Given the description of an element on the screen output the (x, y) to click on. 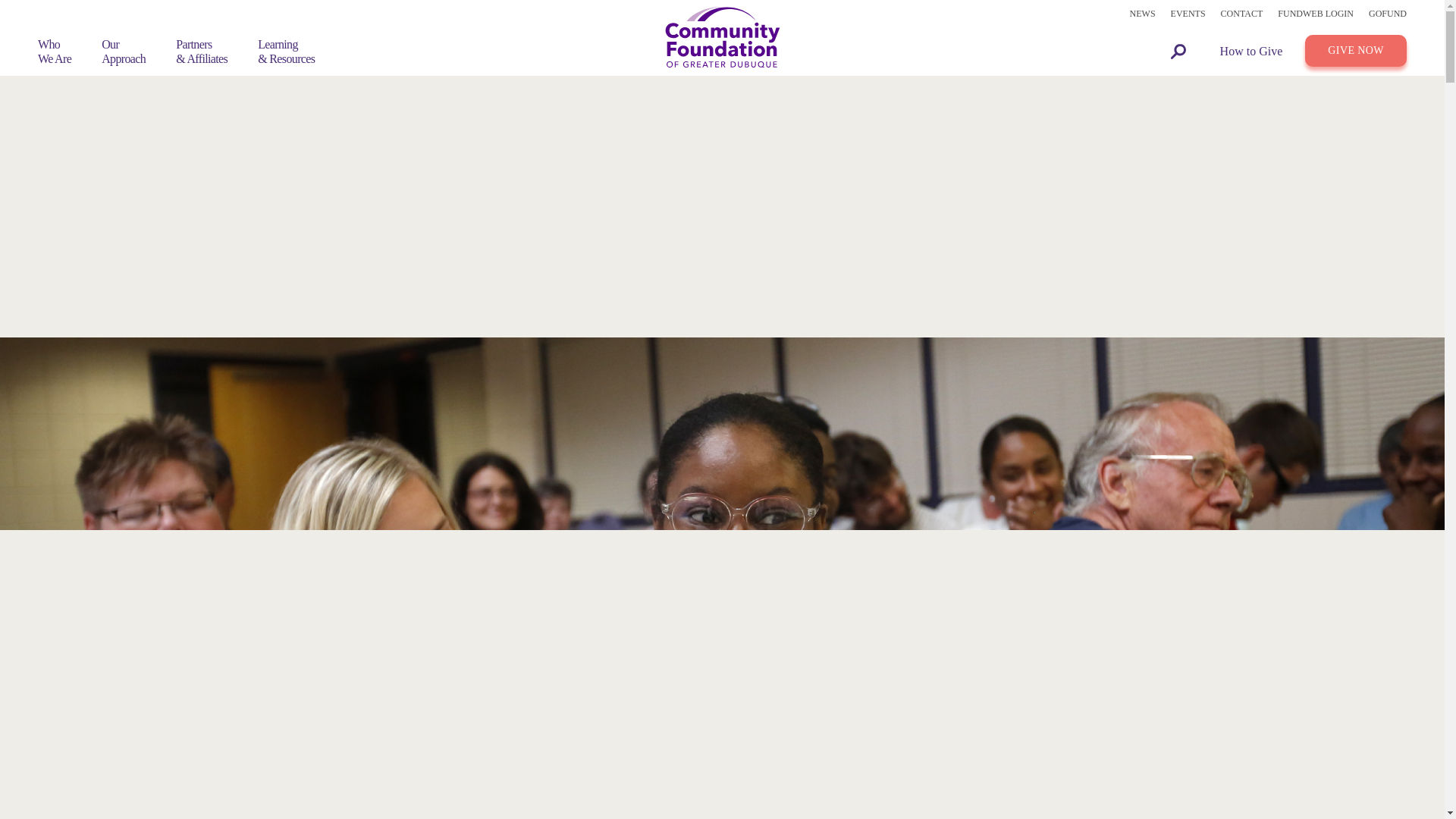
CONTACT (123, 51)
EVENTS (1242, 13)
FUNDWEB LOGIN (1187, 13)
GOFUND (1316, 13)
NEWS (1387, 13)
